Given the description of an element on the screen output the (x, y) to click on. 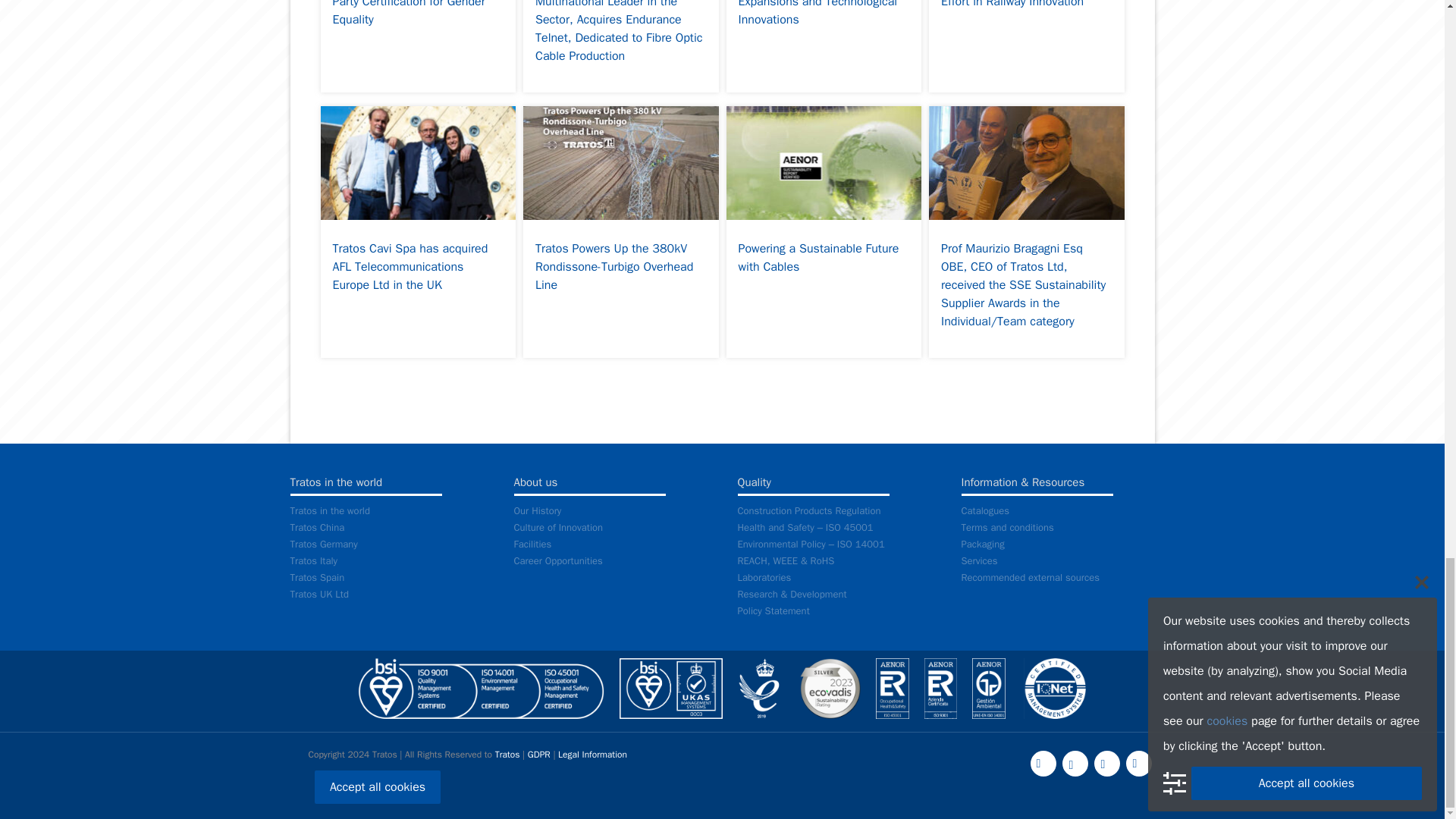
Facebook (1042, 763)
Facebook (1042, 763)
